Given the description of an element on the screen output the (x, y) to click on. 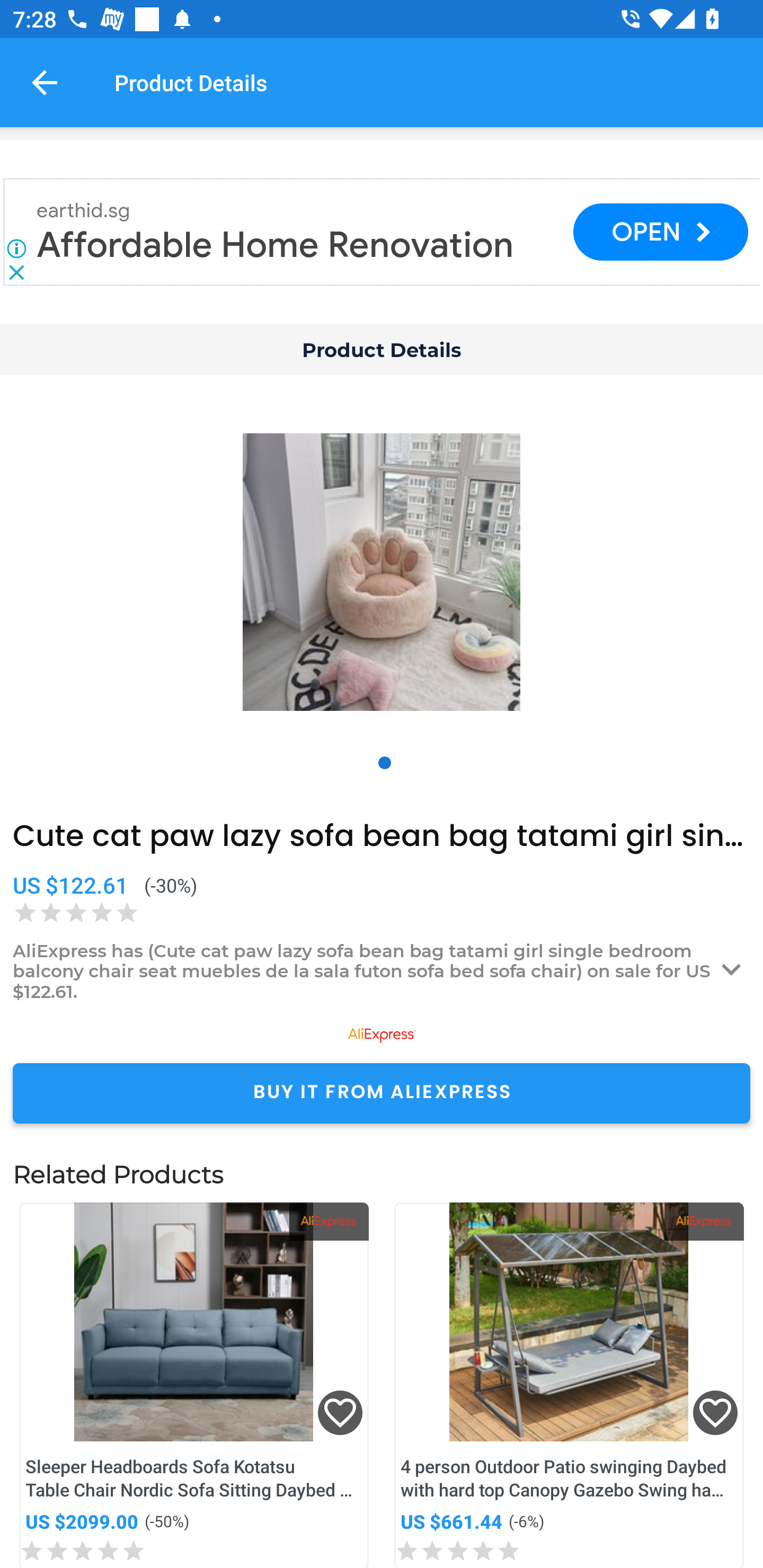
Navigate up (44, 82)
earthid.sg (83, 210)
OPEN (660, 231)
Affordable Home Renovation (275, 244)
BUY IT FROM ALIEXPRESS (381, 1093)
